Given the description of an element on the screen output the (x, y) to click on. 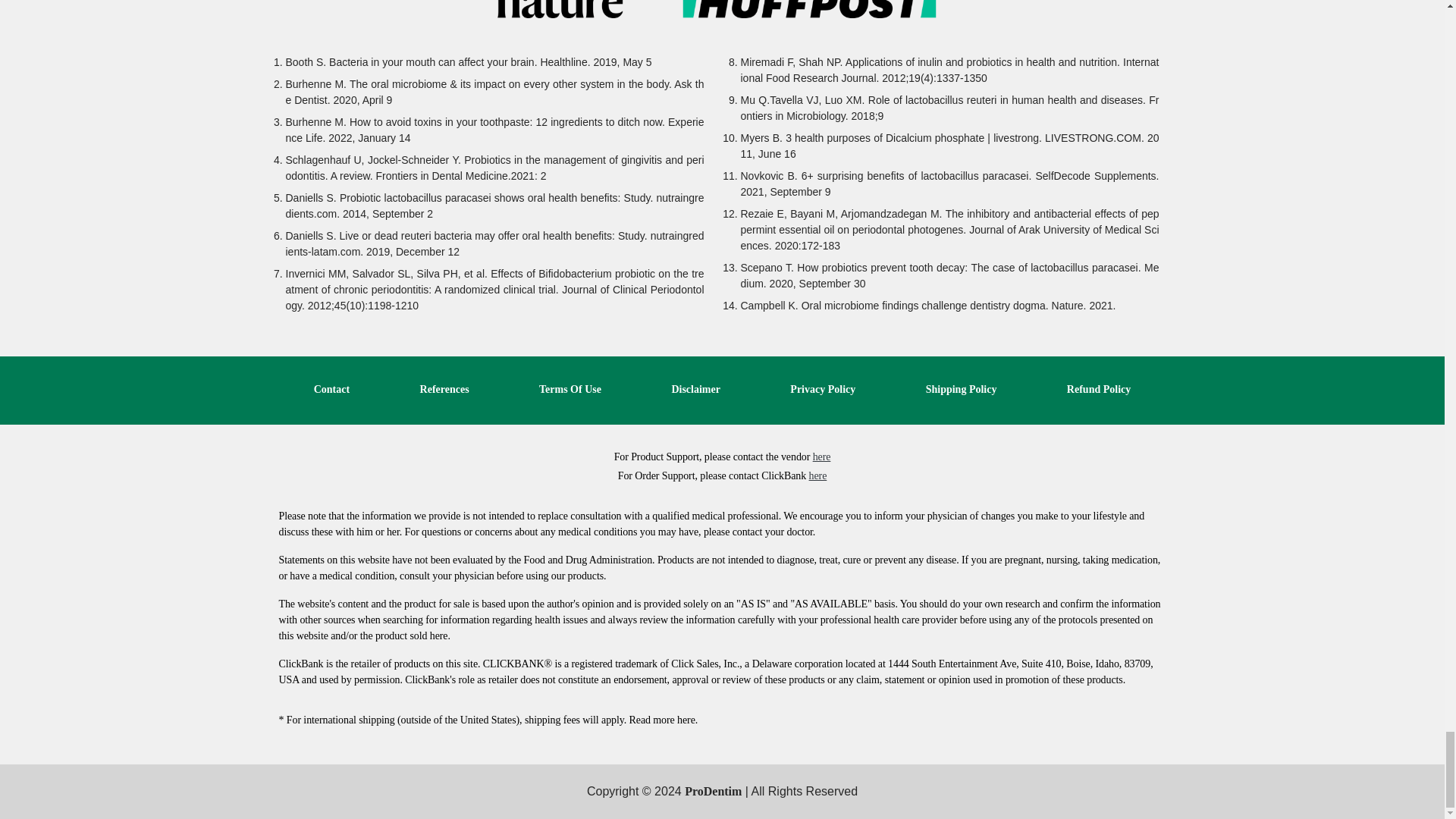
Terms Of Use (569, 389)
Contact (331, 389)
References (444, 389)
